Given the description of an element on the screen output the (x, y) to click on. 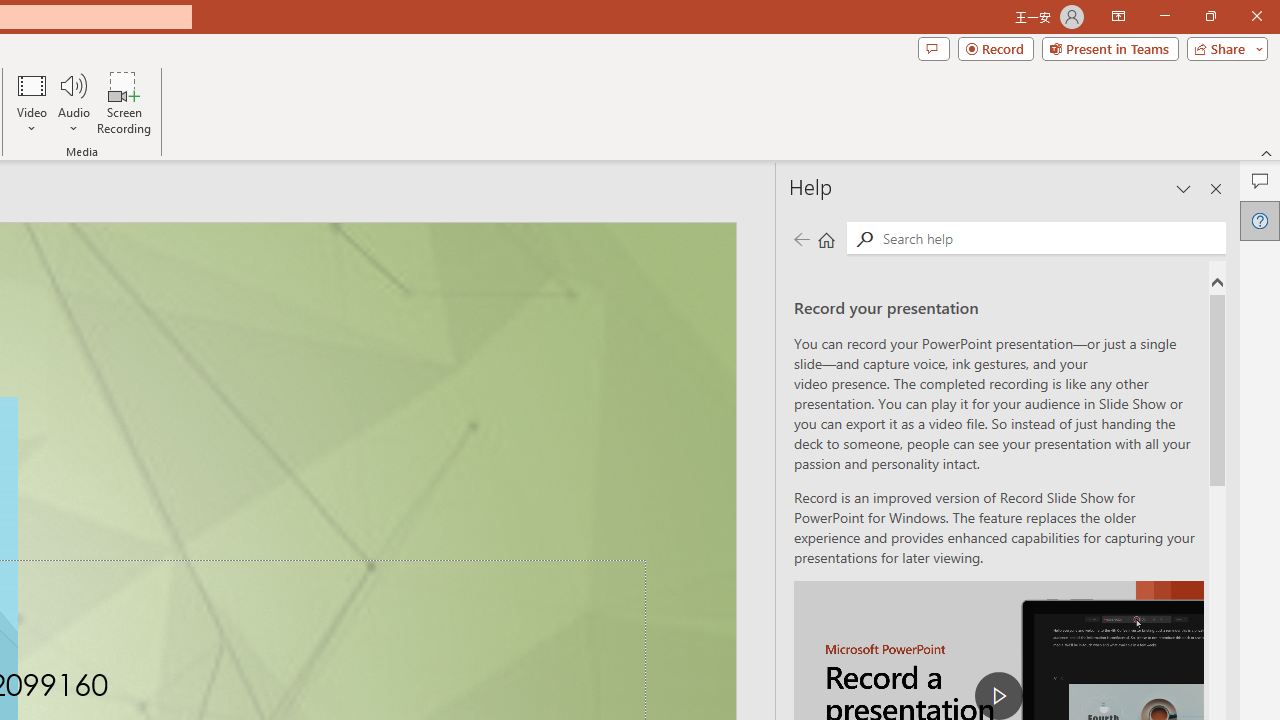
Help (1260, 220)
Home (826, 238)
Share (1223, 48)
Comments (1260, 180)
Minimize (1164, 16)
Previous page (801, 238)
Search (1049, 237)
Close (1256, 16)
Restore Down (1210, 16)
play Record a Presentation (998, 695)
Ribbon Display Options (1118, 16)
Close pane (1215, 188)
Audio (73, 102)
Comments (933, 48)
